Given the description of an element on the screen output the (x, y) to click on. 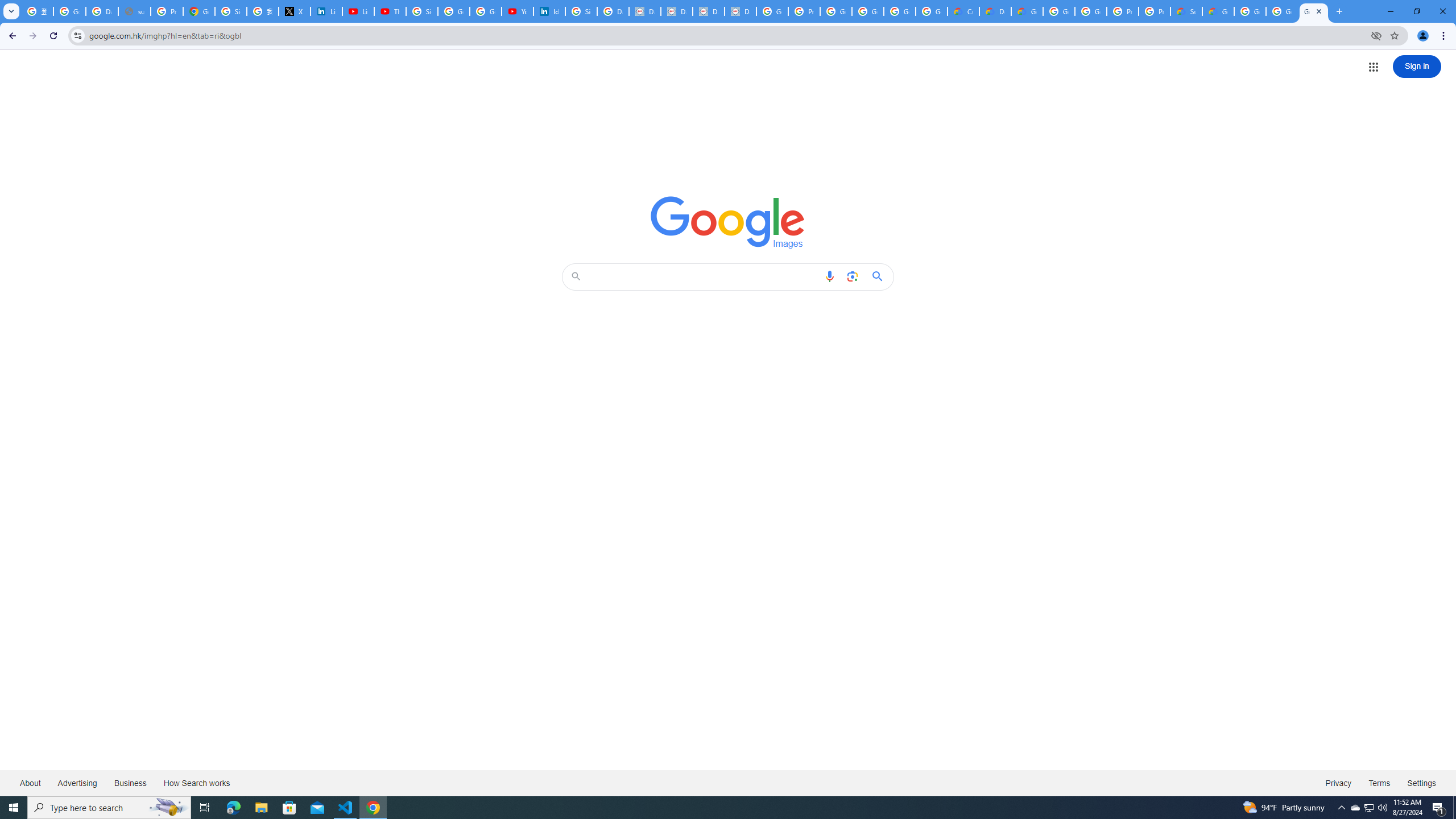
Data Privacy Framework (676, 11)
Google Cloud Platform (1059, 11)
Google Images (727, 222)
support.google.com - Network error (134, 11)
